Given the description of an element on the screen output the (x, y) to click on. 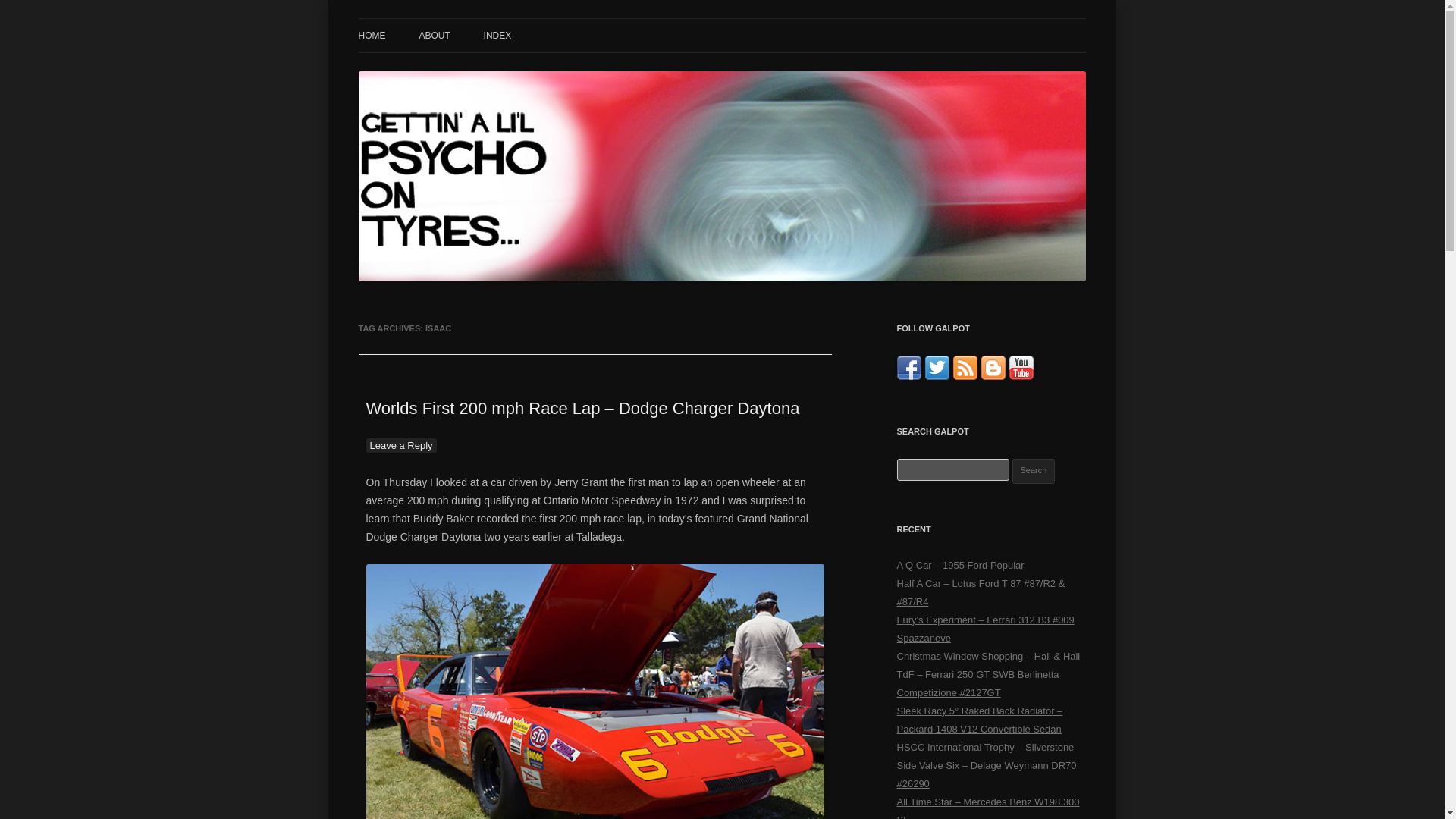
Gettin' A Li'l Psycho On Tyres (497, 36)
Subscribe to RSS Feed (964, 376)
Leave a Reply (400, 445)
01 Copyright Geoffrey Horton 2012-58 (594, 691)
Search (1033, 471)
Search (1033, 471)
Gettin' A Li'l Psycho On Tyres (497, 36)
Connect on Facebook (908, 376)
